Given the description of an element on the screen output the (x, y) to click on. 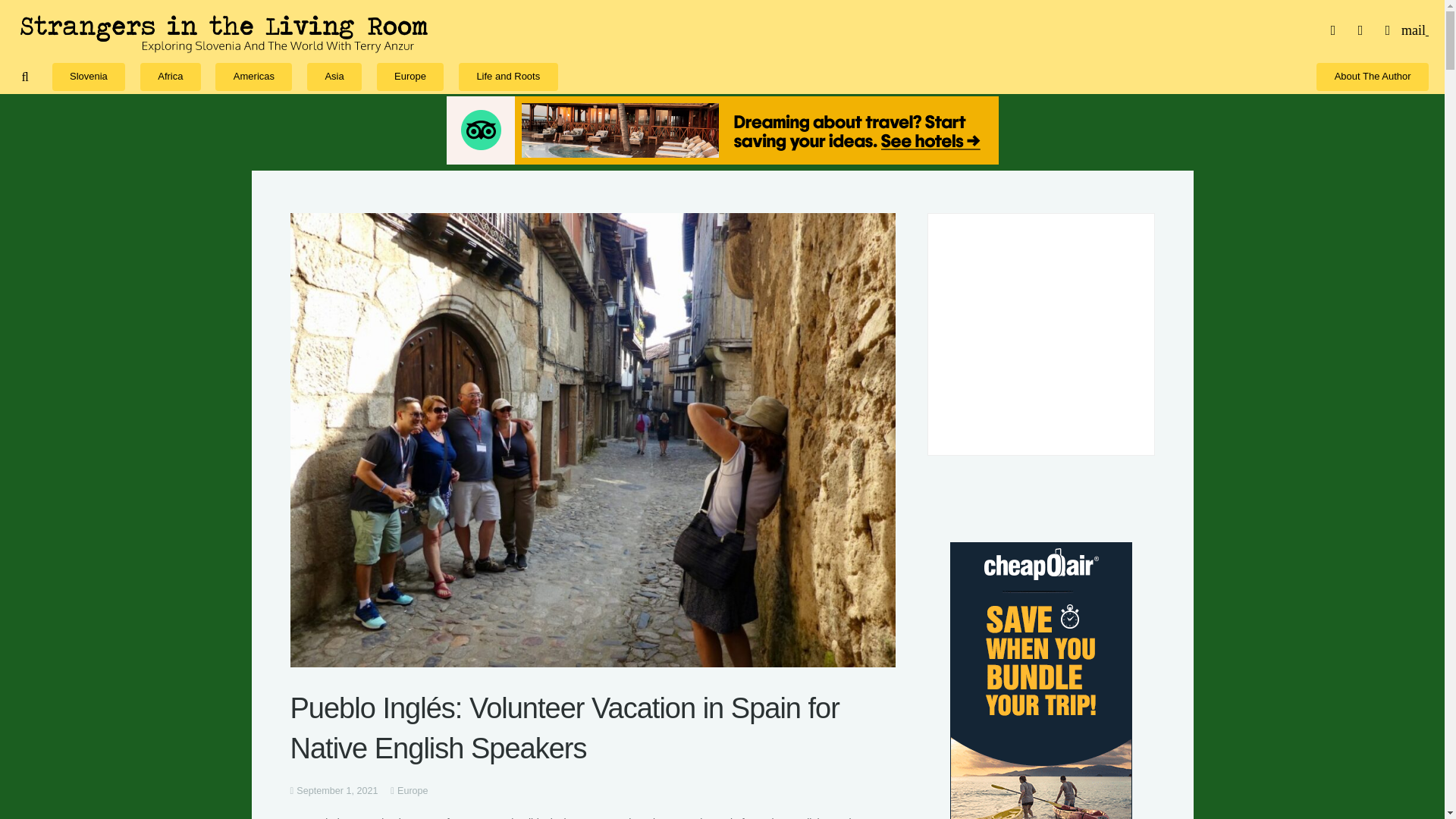
About The Author (1372, 76)
Europe (410, 76)
Life and Roots (507, 76)
Asia (334, 76)
Slovenia (88, 76)
Americas (253, 76)
Europe (412, 790)
Africa (169, 76)
